Given the description of an element on the screen output the (x, y) to click on. 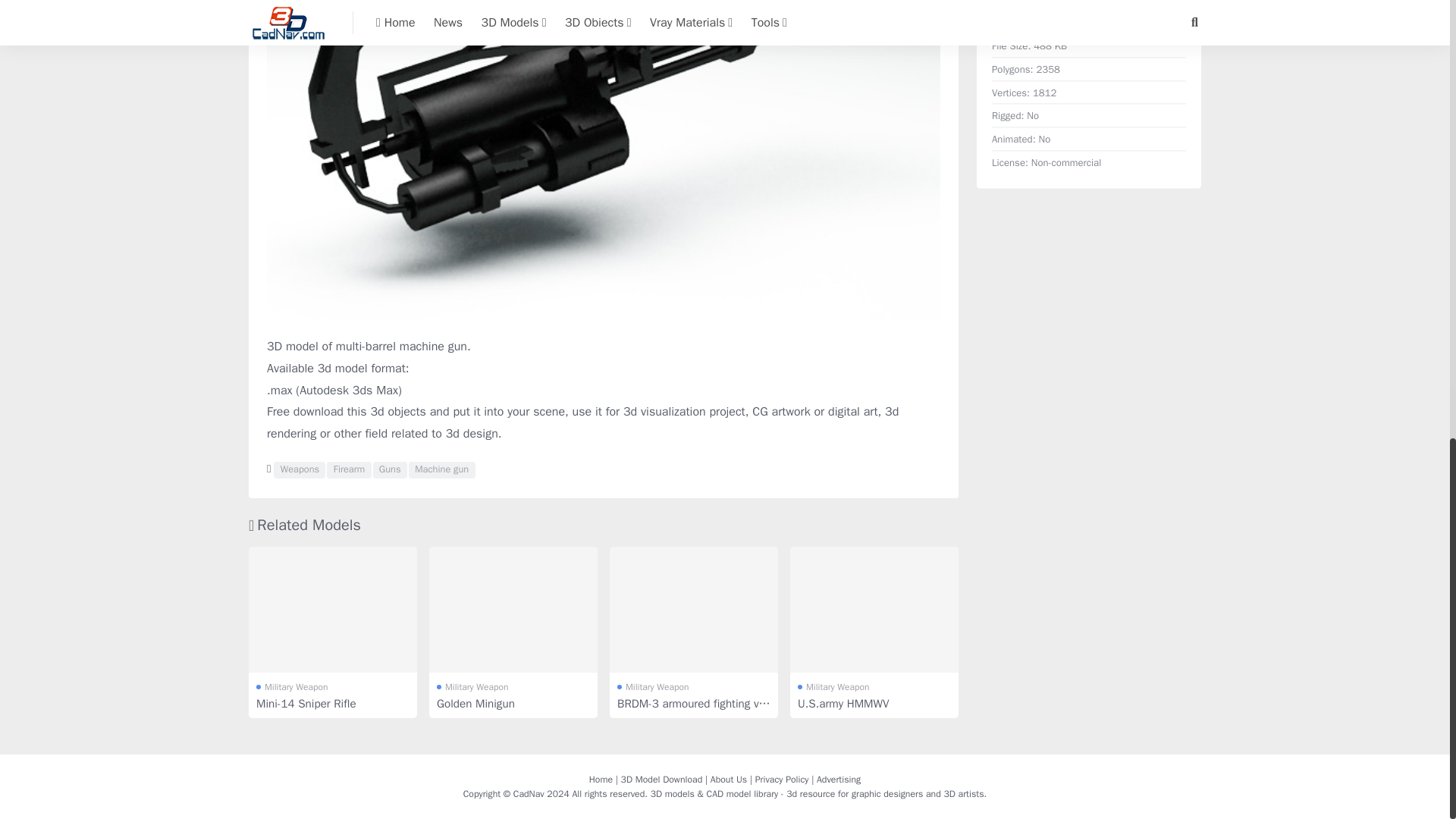
Firearm 3d model (348, 469)
Machine gun 3d model (442, 469)
Mini-14 Sniper Rifle 3d model download (332, 610)
Weapons 3d model (298, 469)
Guns 3d model (389, 469)
U.S.army HMMWV 3d model download (874, 610)
Golden Minigun 3d model download (512, 610)
BRDM-3 armoured fighting vehicl 3d model download (693, 610)
